Given the description of an element on the screen output the (x, y) to click on. 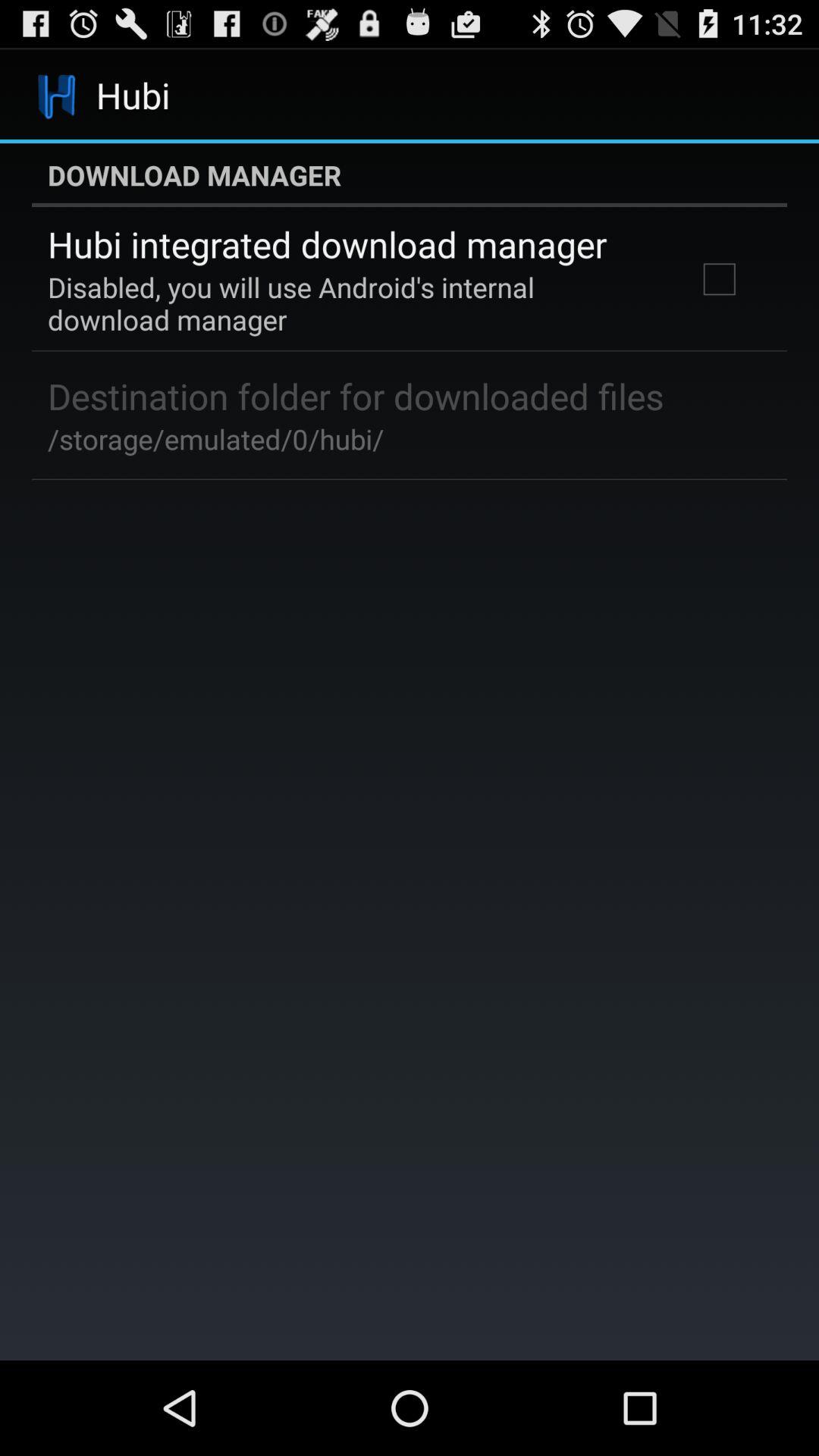
launch the item next to disabled you will item (719, 279)
